Given the description of an element on the screen output the (x, y) to click on. 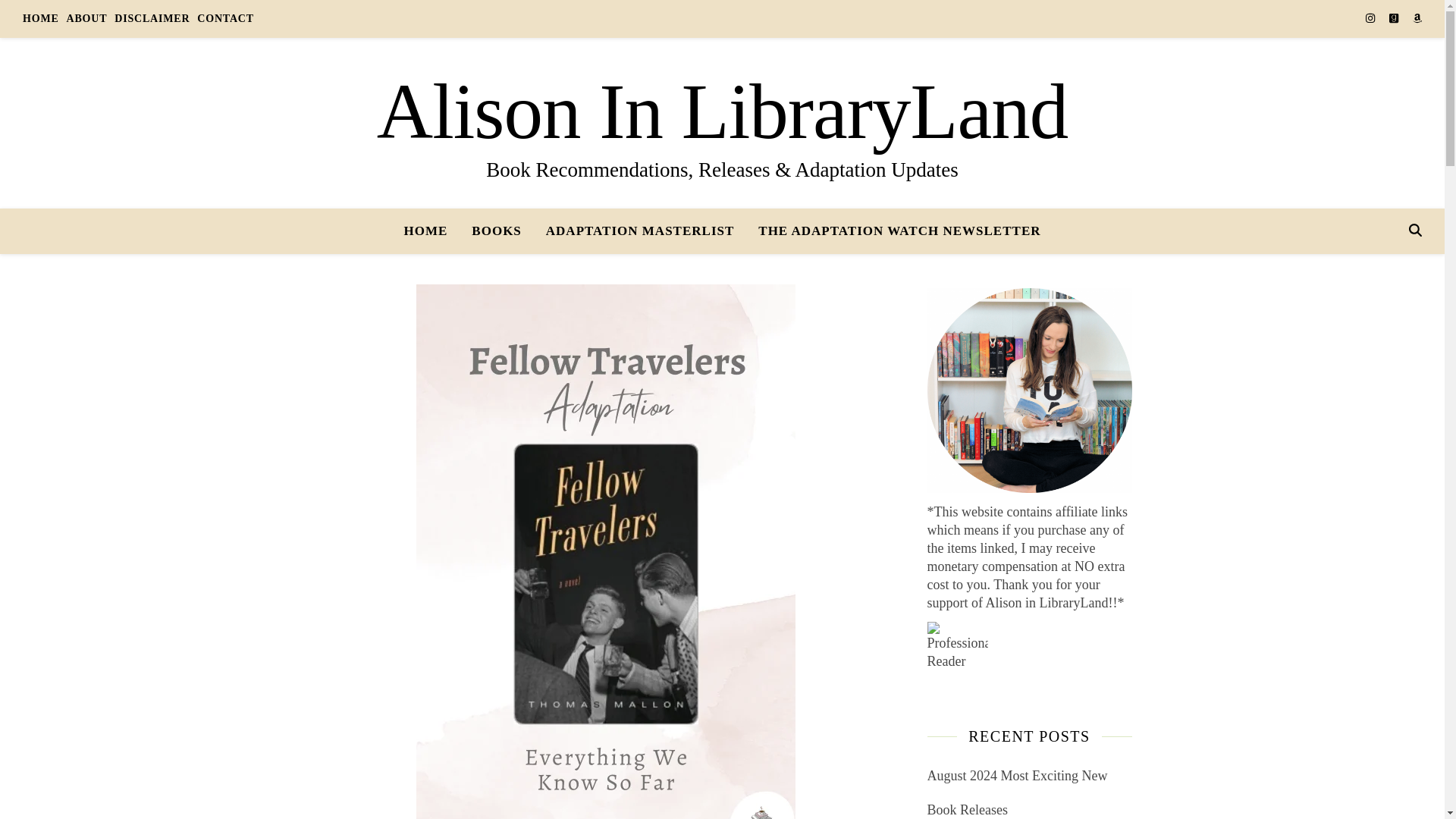
ADAPTATION MASTERLIST (640, 230)
CONTACT (223, 18)
HOME (42, 18)
THE ADAPTATION WATCH NEWSLETTER (893, 230)
HOME (431, 230)
Alison In LibraryLand (722, 112)
ABOUT (87, 18)
DISCLAIMER (151, 18)
BOOKS (496, 230)
